Given the description of an element on the screen output the (x, y) to click on. 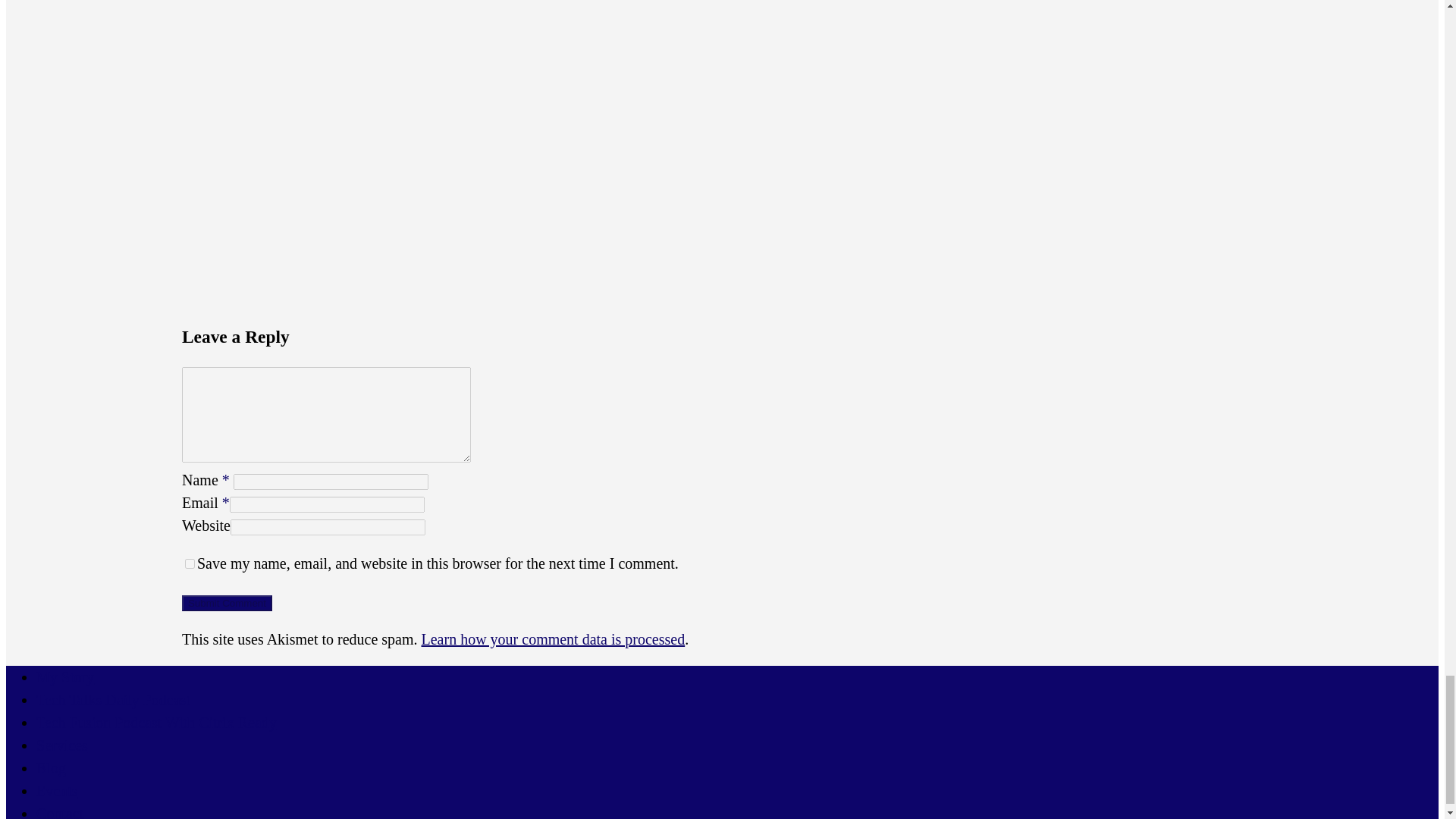
yes (189, 563)
Submit Comment (227, 602)
